Given the description of an element on the screen output the (x, y) to click on. 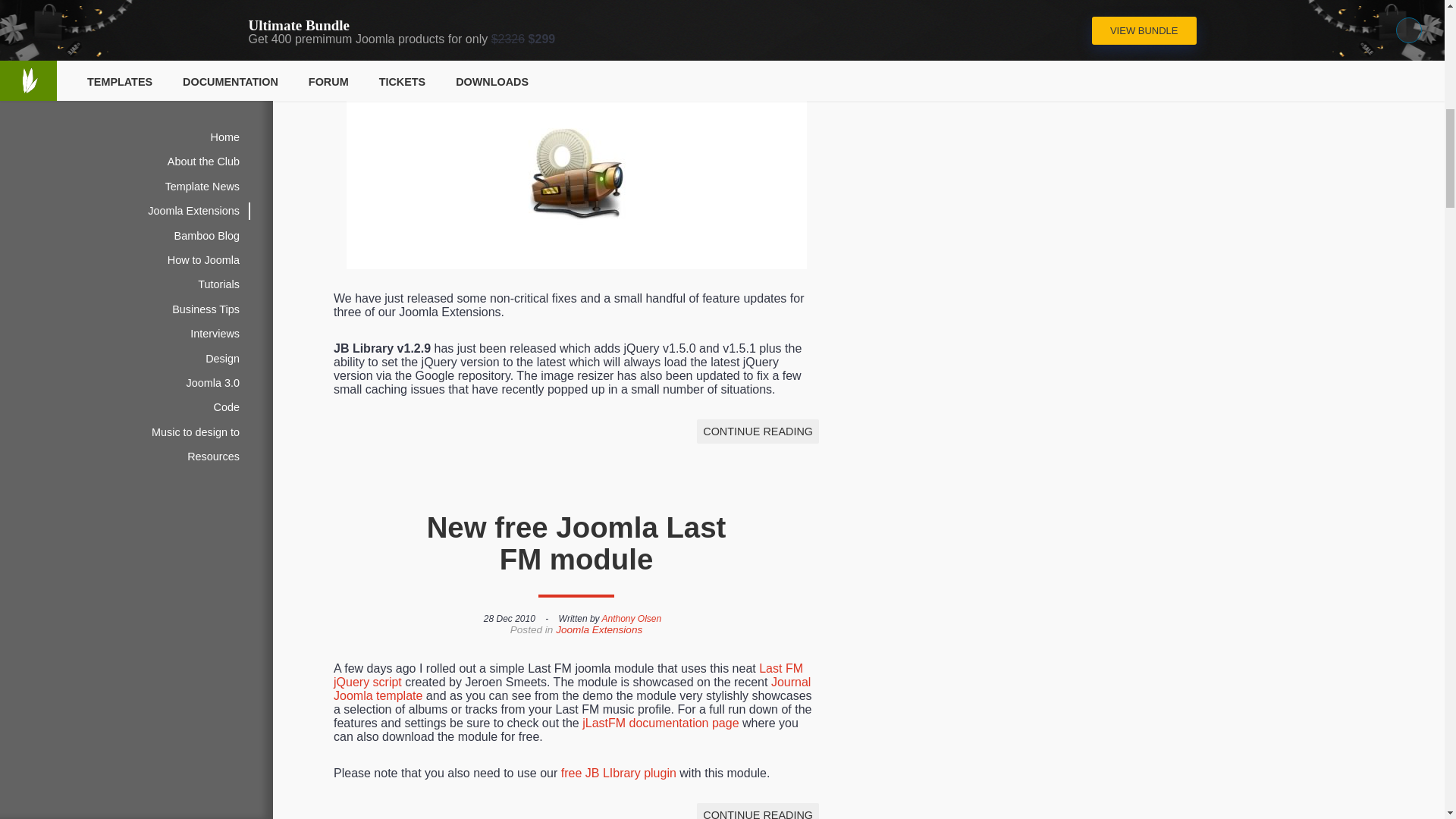
CONTINUE READING (757, 811)
jLastFM documentation page (660, 722)
Last FM jQuery script (568, 674)
Journal Joomla template (571, 688)
free JB LIbrary plugin (618, 772)
Joomla Extensions (599, 47)
Joomla Extensions (599, 629)
CONTINUE READING (757, 431)
Anthony Olsen (631, 36)
Anthony Olsen (631, 618)
New free Joomla Last FM module (576, 543)
